Given the description of an element on the screen output the (x, y) to click on. 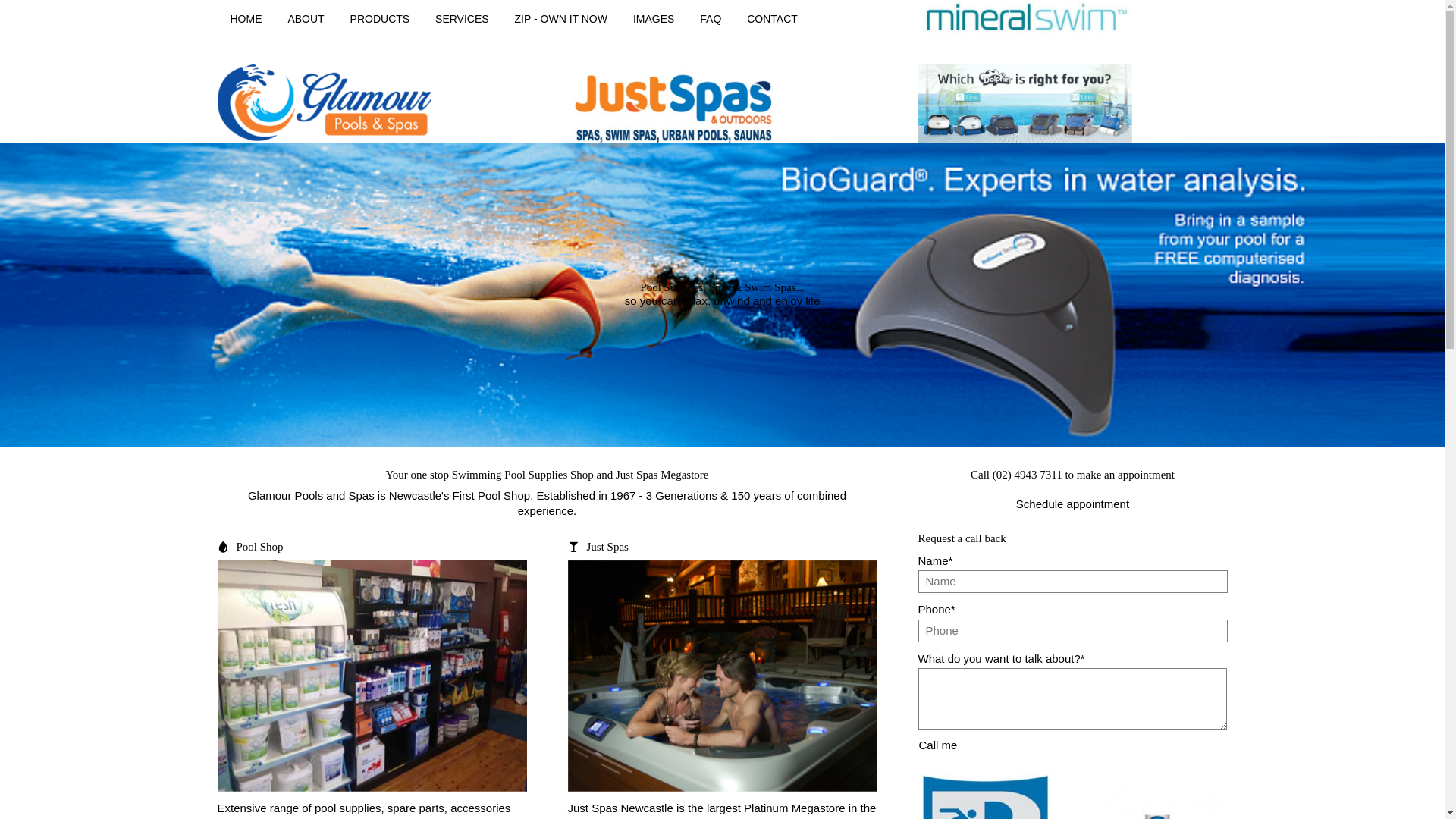
FAQ Element type: text (710, 18)
IMAGES Element type: text (653, 18)
ABOUT Element type: text (305, 18)
Pool Shop Element type: text (259, 546)
ZIP - OWN IT NOW Element type: text (561, 18)
Just Spas Element type: text (607, 546)
HOME Element type: text (245, 18)
CONTACT Element type: text (772, 18)
Call me Element type: text (937, 744)
SERVICES Element type: text (461, 18)
PRODUCTS Element type: text (380, 18)
